Given the description of an element on the screen output the (x, y) to click on. 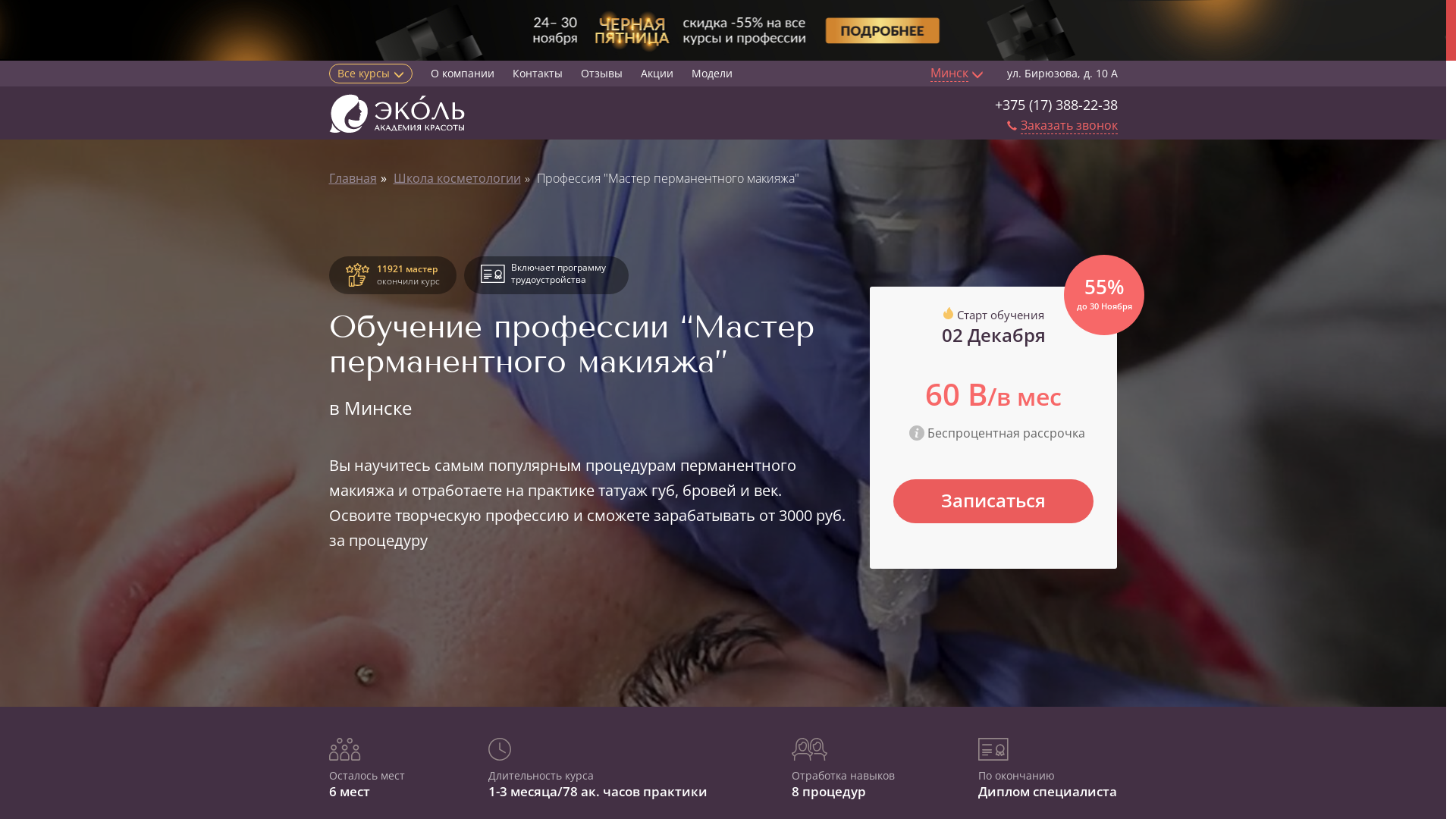
+375 (17) 388-22-38 Element type: text (1055, 104)
